Given the description of an element on the screen output the (x, y) to click on. 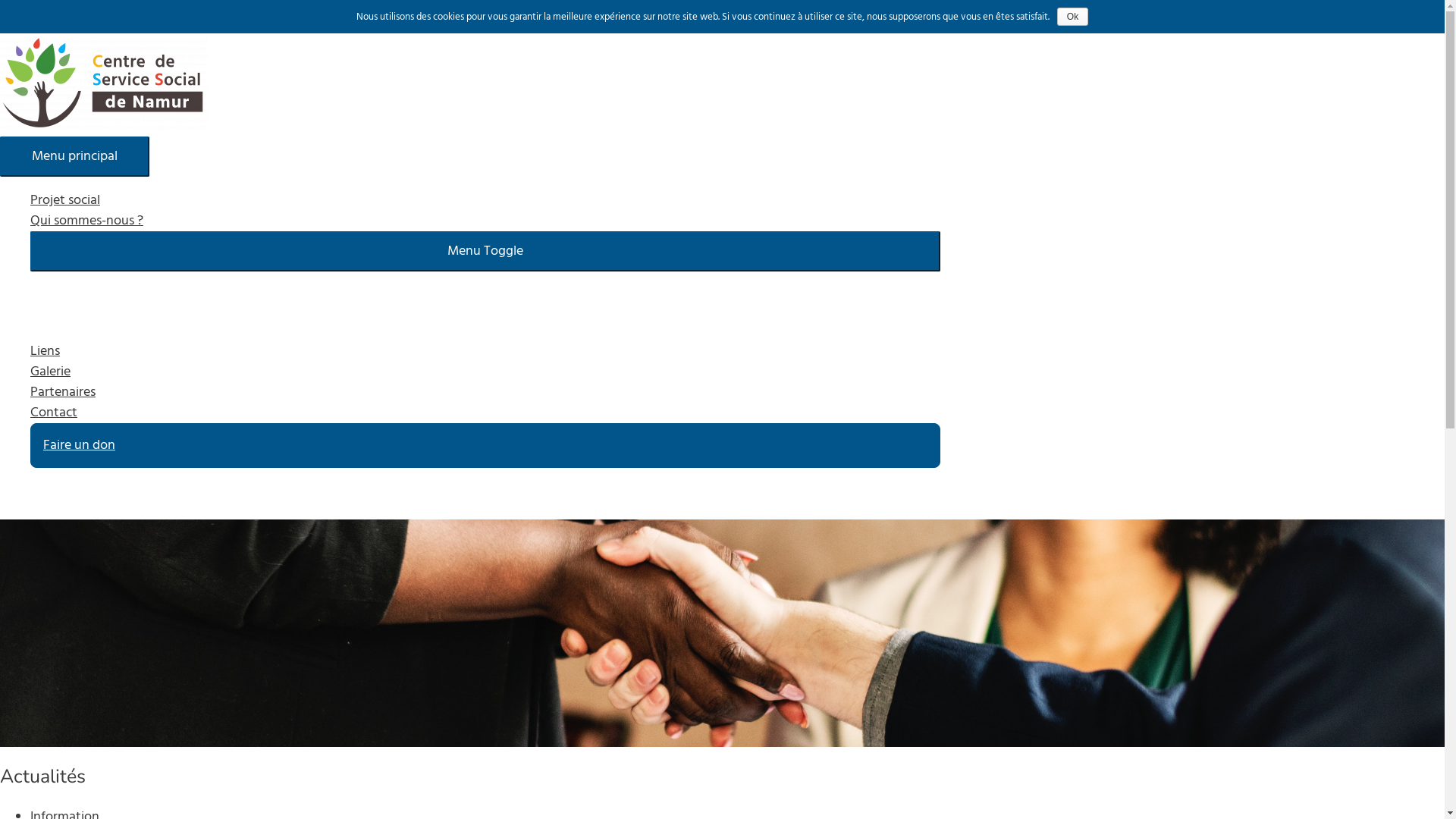
Galerie Element type: text (485, 371)
Menu principal Element type: text (74, 156)
Menu Toggle Element type: text (485, 251)
Faire un don Element type: text (485, 445)
Qui sommes-nous ? Element type: text (485, 220)
Ok Element type: text (1072, 16)
Contact Element type: text (485, 412)
Liens Element type: text (485, 351)
Projet social Element type: text (485, 200)
Partenaires Element type: text (485, 392)
